Given the description of an element on the screen output the (x, y) to click on. 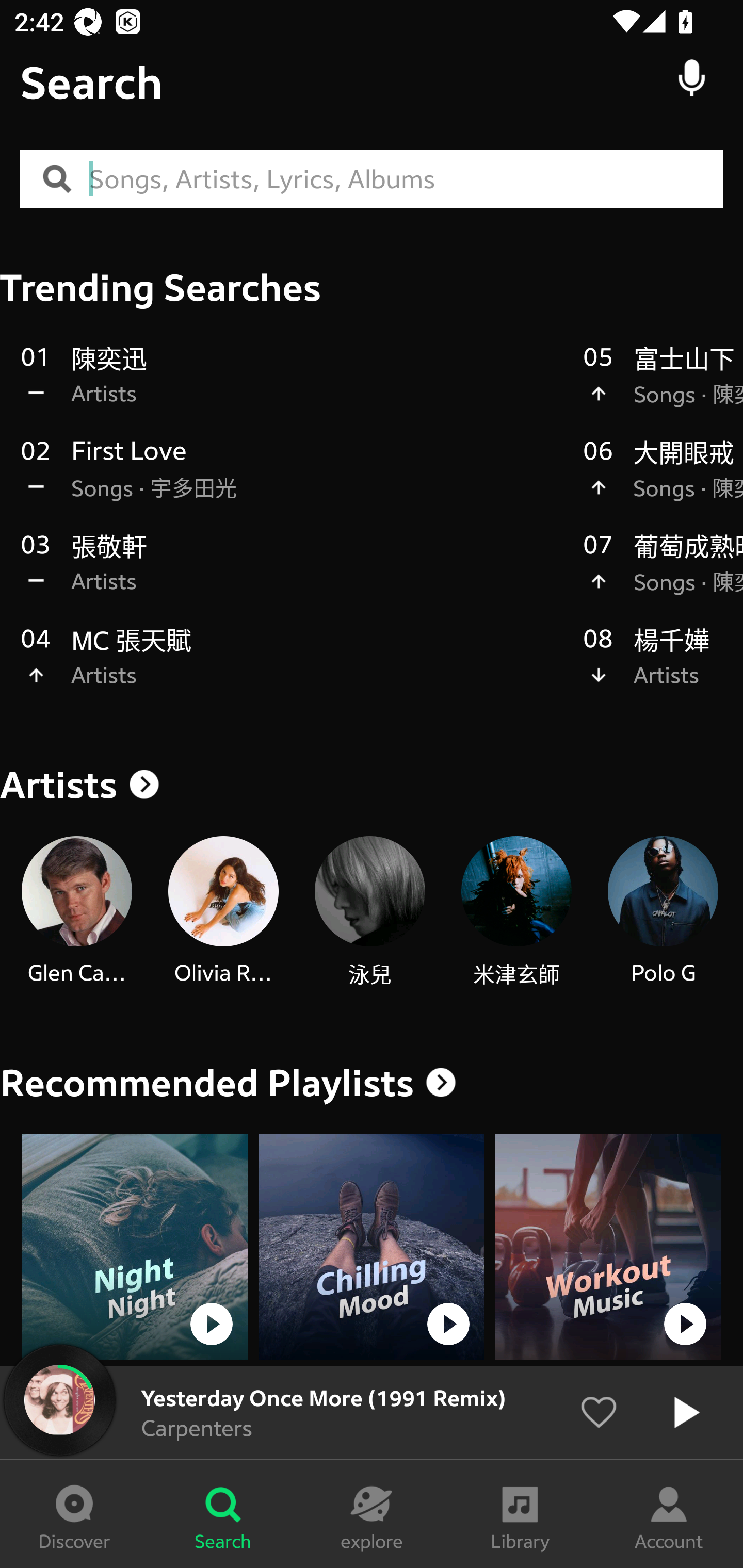
Songs, Artists, Lyrics, Albums (405, 179)
01 陳奕迅 Artists (291, 385)
05 富士山下 Songs · 陳奕迅 (663, 385)
02 First Love Songs · 宇多田光 (291, 479)
06 大開眼戒 Songs · 陳奕迅 (663, 479)
03 張敬軒 Artists (291, 573)
07 葡萄成熟時 Songs · 陳奕迅 (663, 573)
04 MC 張天賦 Artists (291, 667)
08 楊千嬅 Artists (663, 667)
Artists (371, 784)
Glen Campbell (76, 911)
Olivia Rodrigo (222, 911)
泳兒 (369, 912)
米津玄師 (516, 912)
Polo G (662, 911)
Recommended Playlists (206, 1082)
Yesterday Once More (1991 Remix) Carpenters (371, 1412)
Discover (74, 1513)
explore (371, 1513)
Library (519, 1513)
Account (668, 1513)
